Given the description of an element on the screen output the (x, y) to click on. 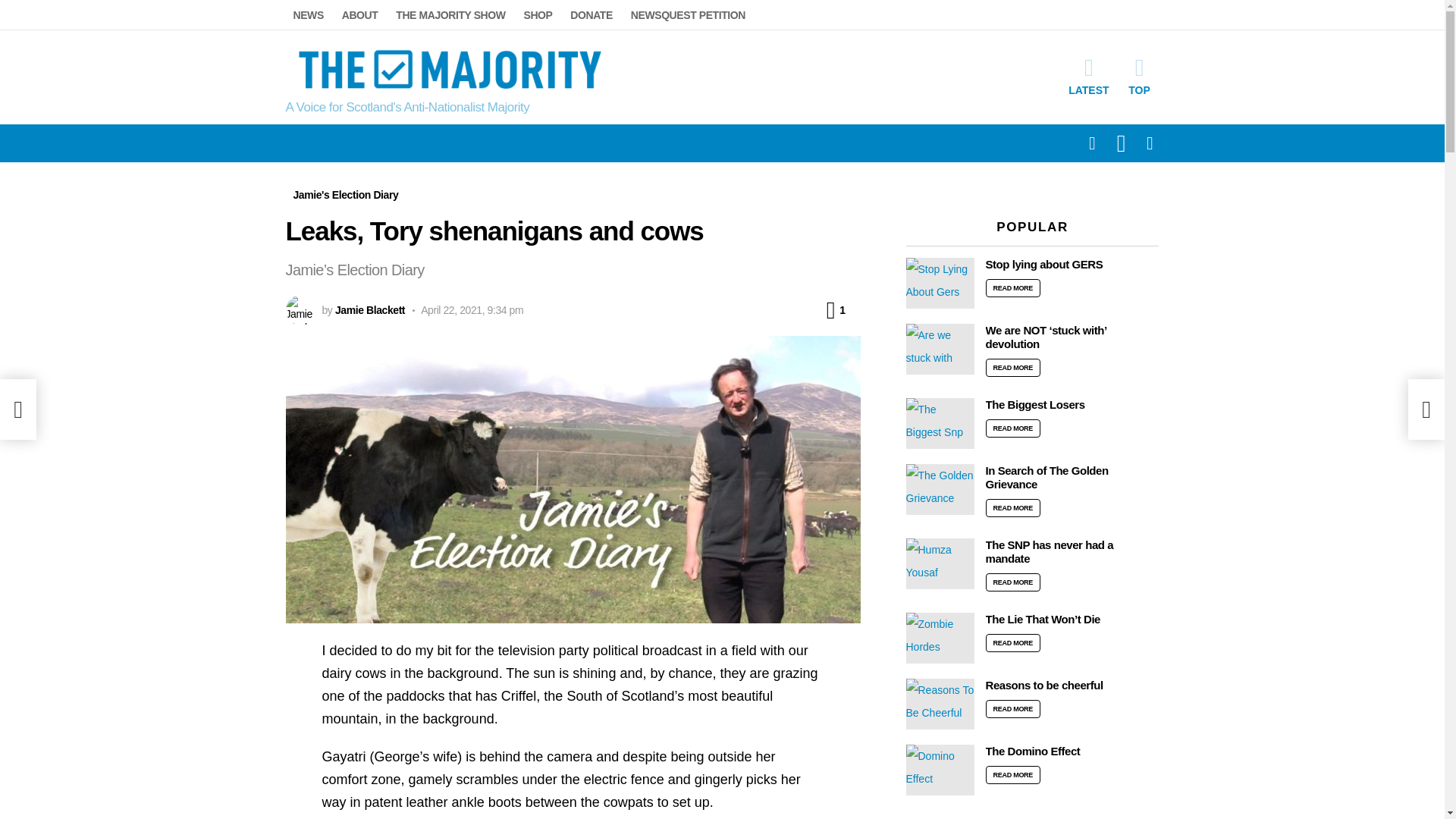
THE MAJORITY SHOW (450, 15)
LATEST (1088, 75)
NEWS (307, 15)
ABOUT (359, 15)
Jamie's Election Diary (345, 194)
Jamie Blackett (369, 309)
SHOP (537, 15)
TOP (1138, 75)
NEWSQUEST PETITION (687, 15)
